Given the description of an element on the screen output the (x, y) to click on. 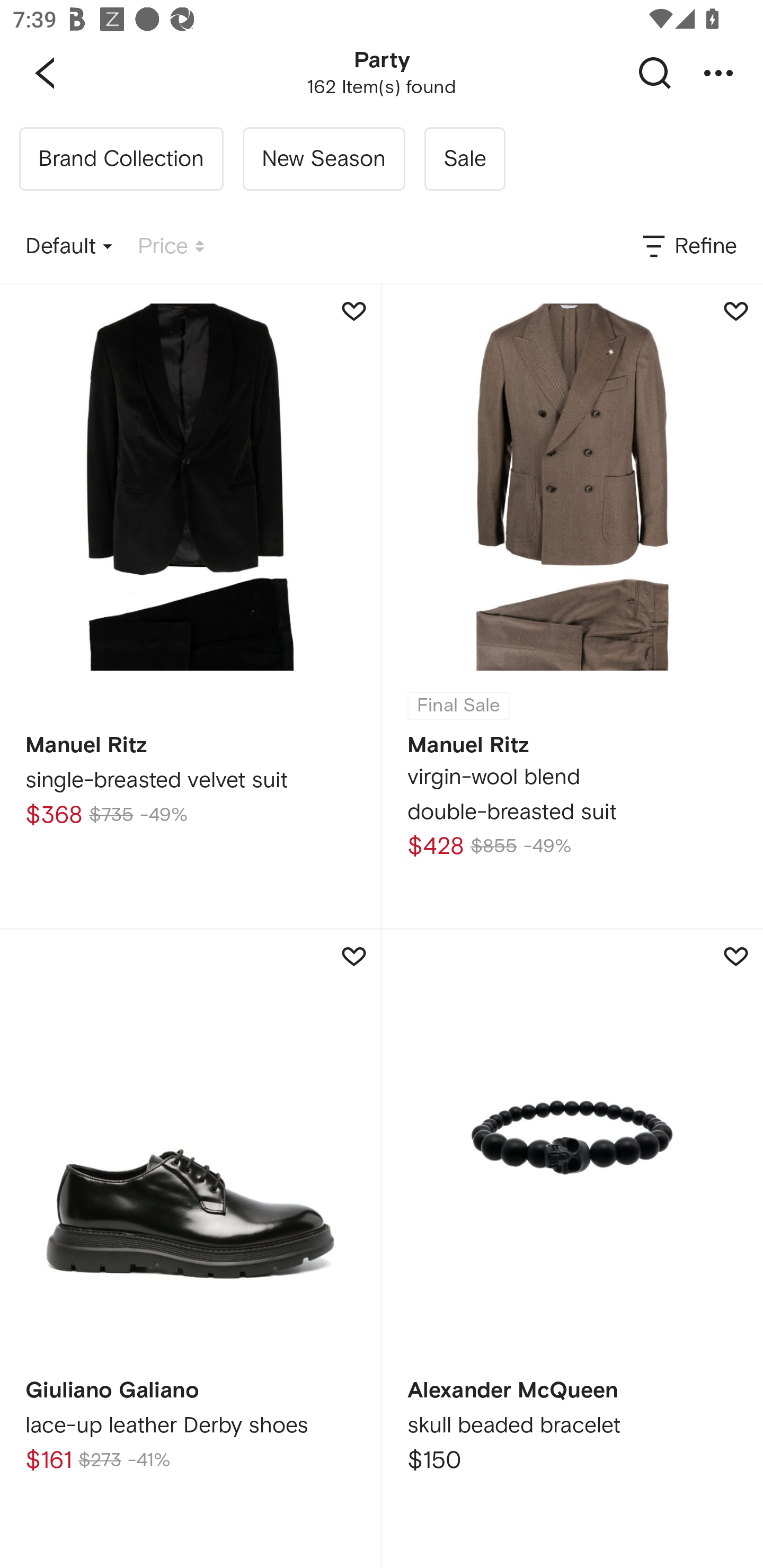
Brand Collection (121, 158)
New Season (323, 158)
Sale (464, 158)
Default (68, 246)
Price (171, 246)
Refine (688, 246)
Alexander McQueen skull beaded bracelet $150 (572, 1248)
